Given the description of an element on the screen output the (x, y) to click on. 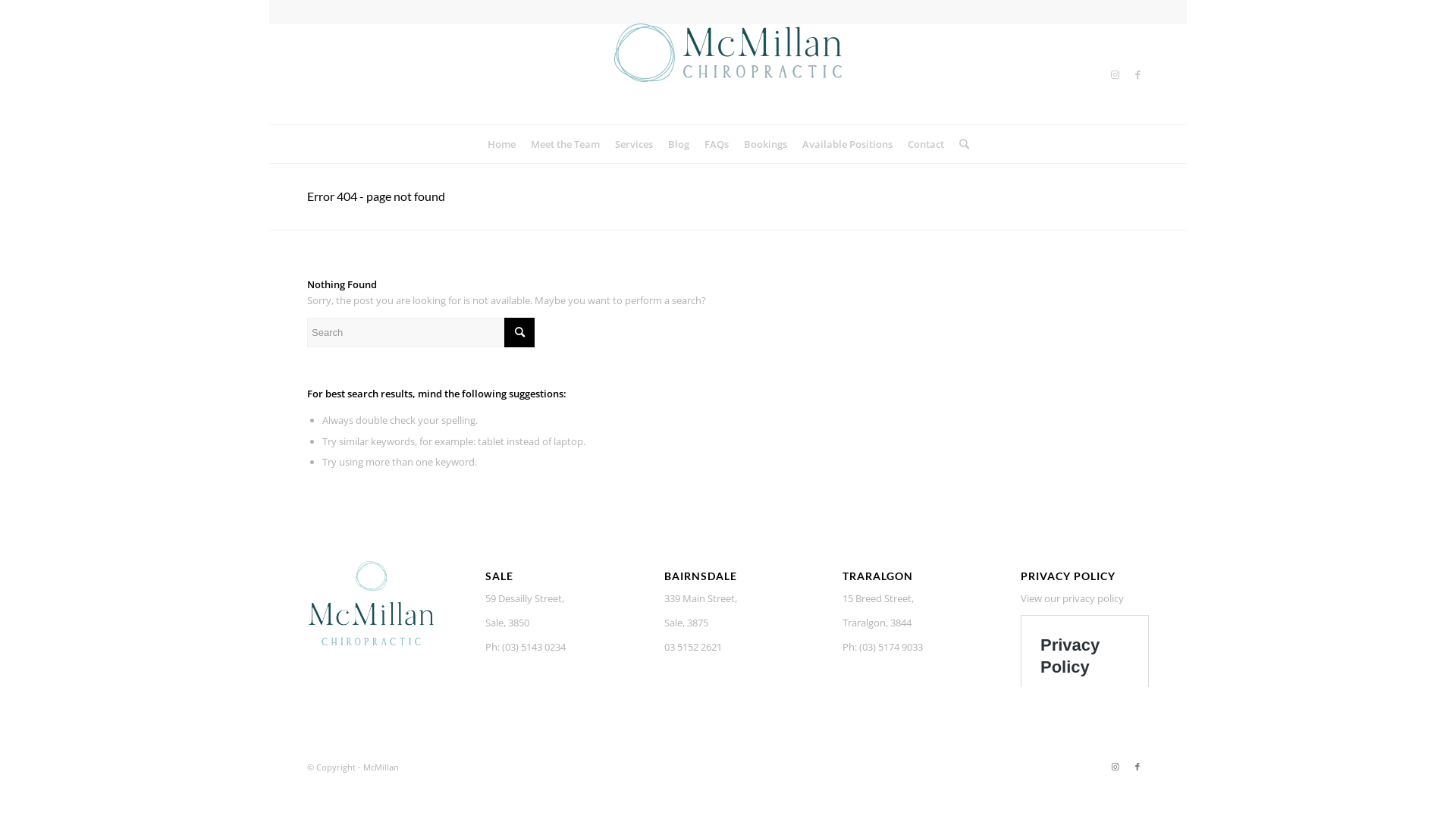
Blog Element type: text (677, 144)
Contact Element type: text (924, 144)
Facebook Element type: hover (1137, 73)
Instagram Element type: hover (1114, 766)
Available Positions Element type: text (847, 144)
Instagram Element type: hover (1114, 73)
FAQs Element type: text (715, 144)
Facebook Element type: hover (1137, 766)
Bookings Element type: text (764, 144)
Services Element type: text (632, 144)
Meet the Team Element type: text (565, 144)
Home Element type: text (500, 144)
